Given the description of an element on the screen output the (x, y) to click on. 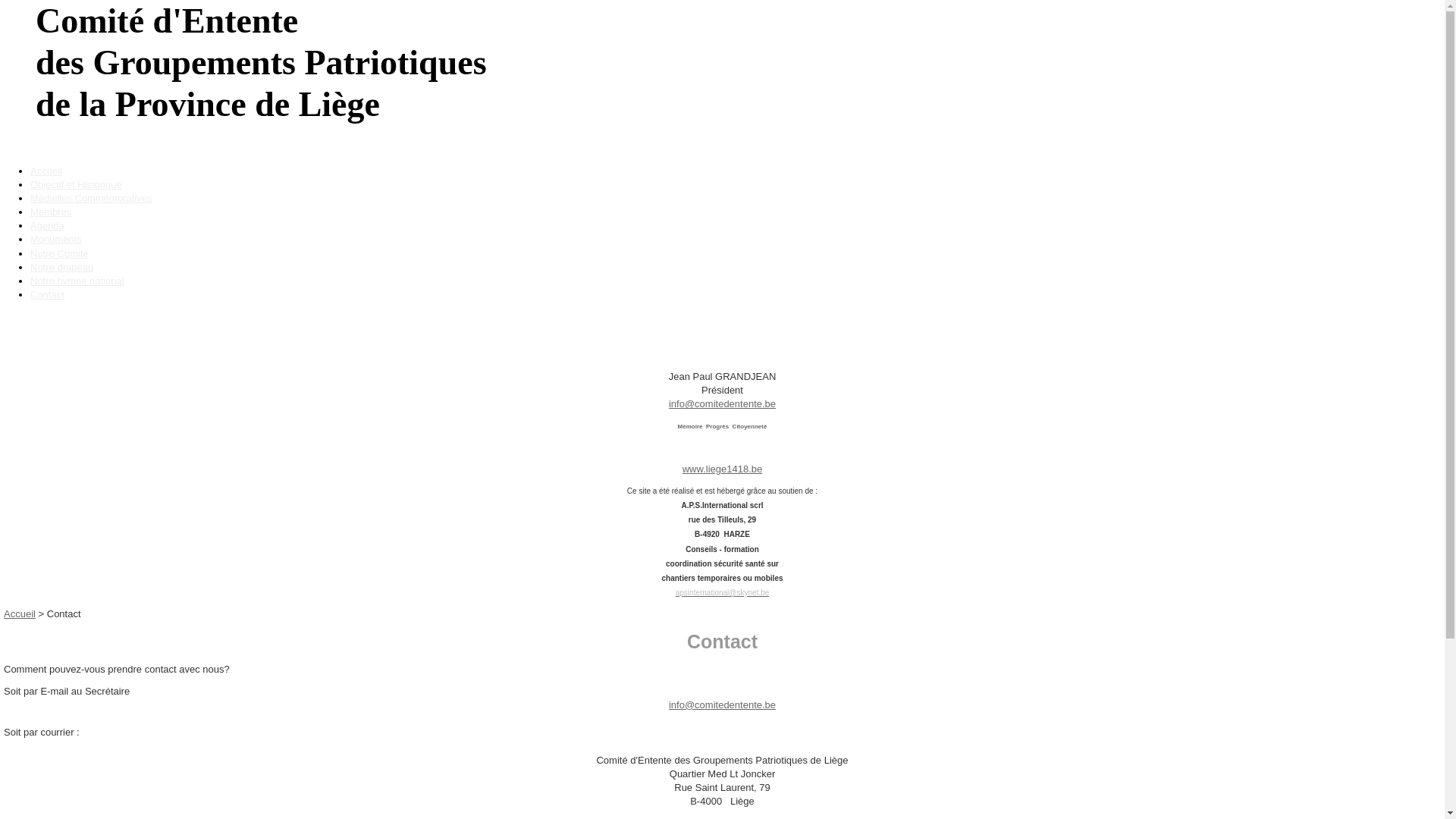
Objectif et Historique Element type: text (76, 184)
Monuments Element type: text (55, 238)
Notre drapeau Element type: text (61, 267)
Agenda Element type: text (47, 225)
info@comitedentente.be Element type: text (721, 403)
Contact Element type: text (47, 294)
Accueil Element type: text (46, 170)
Notre hymne national Element type: text (77, 280)
apsinternational@skynet.be Element type: text (722, 592)
Membres Element type: text (50, 211)
www.liege1418.be Element type: text (722, 468)
Accueil Element type: text (19, 613)
info@comitedentente.be Element type: text (721, 704)
